Given the description of an element on the screen output the (x, y) to click on. 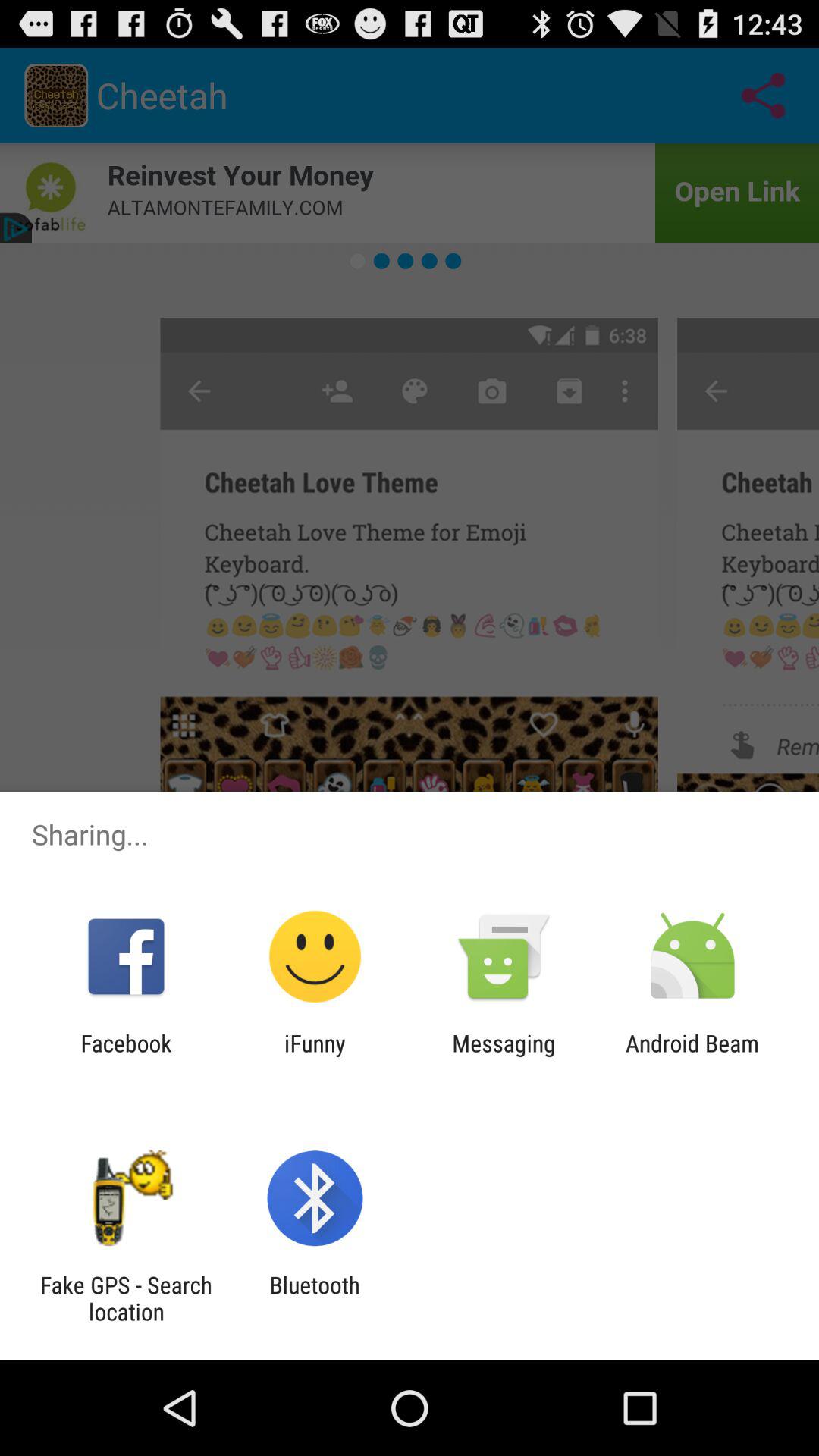
turn on the item next to fake gps search (314, 1298)
